Given the description of an element on the screen output the (x, y) to click on. 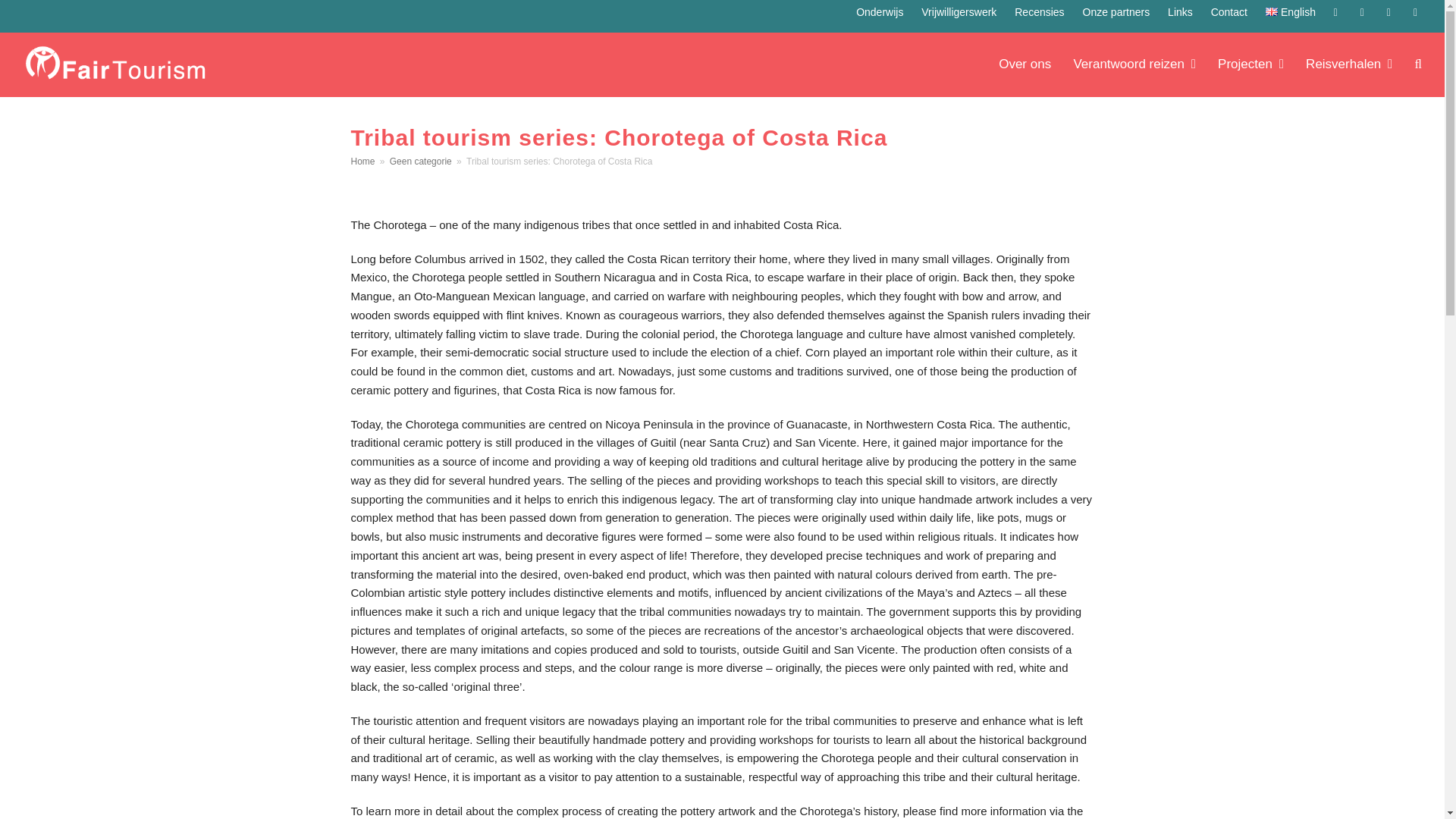
Recensies (1039, 11)
Links (1179, 11)
Over ons (1024, 64)
Verantwoord reizen (1134, 64)
Contact (1229, 11)
Onderwijs (879, 11)
English (1290, 11)
Vrijwilligerswerk (958, 11)
Onze partners (1116, 11)
